Given the description of an element on the screen output the (x, y) to click on. 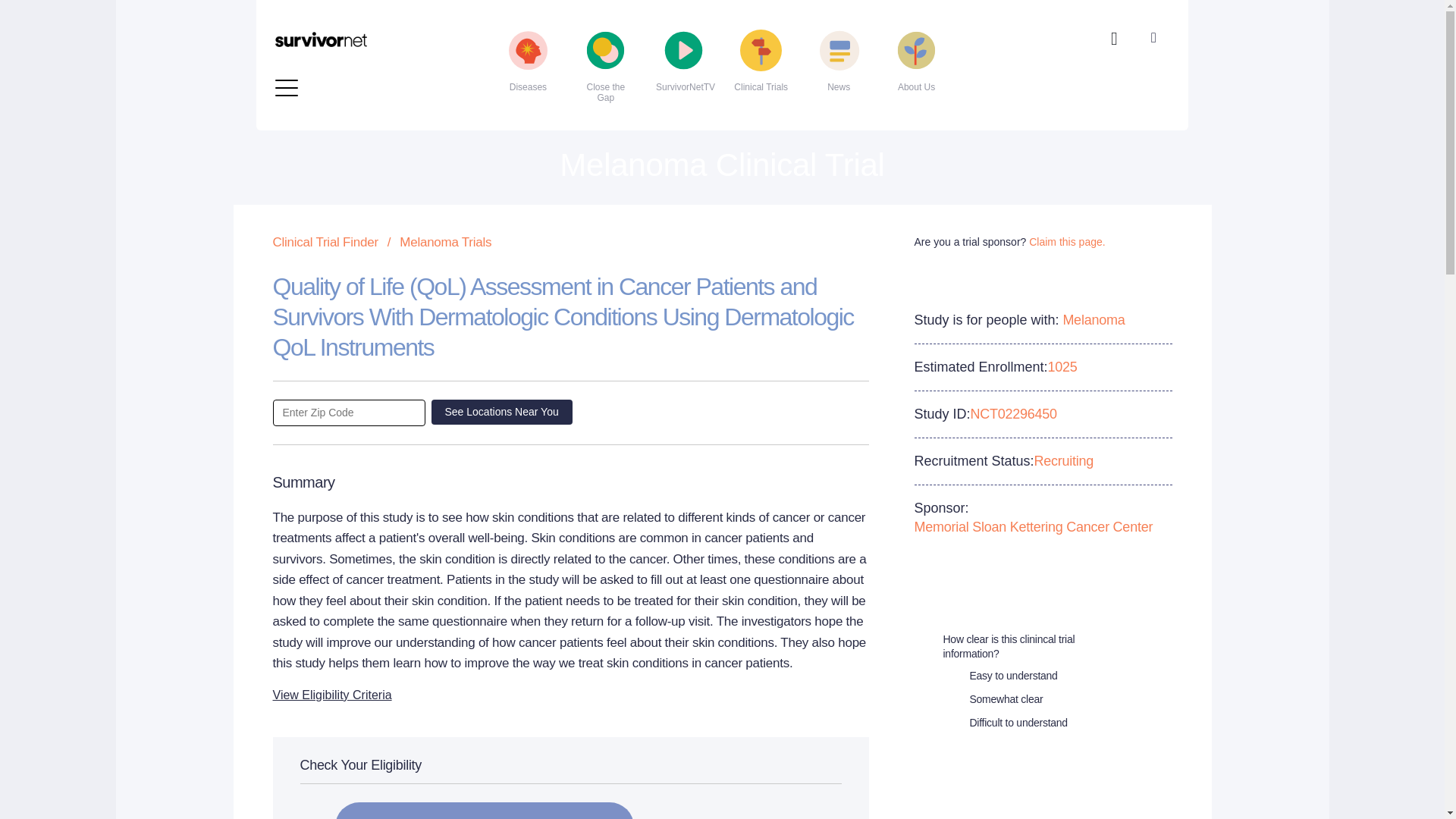
Heart Failure (364, 28)
Ovarian Cancer (661, 7)
Psoriasis (661, 52)
Esophageal Cancer (364, 7)
Liver Cancer (364, 78)
Prostate Cancer (661, 28)
